Given the description of an element on the screen output the (x, y) to click on. 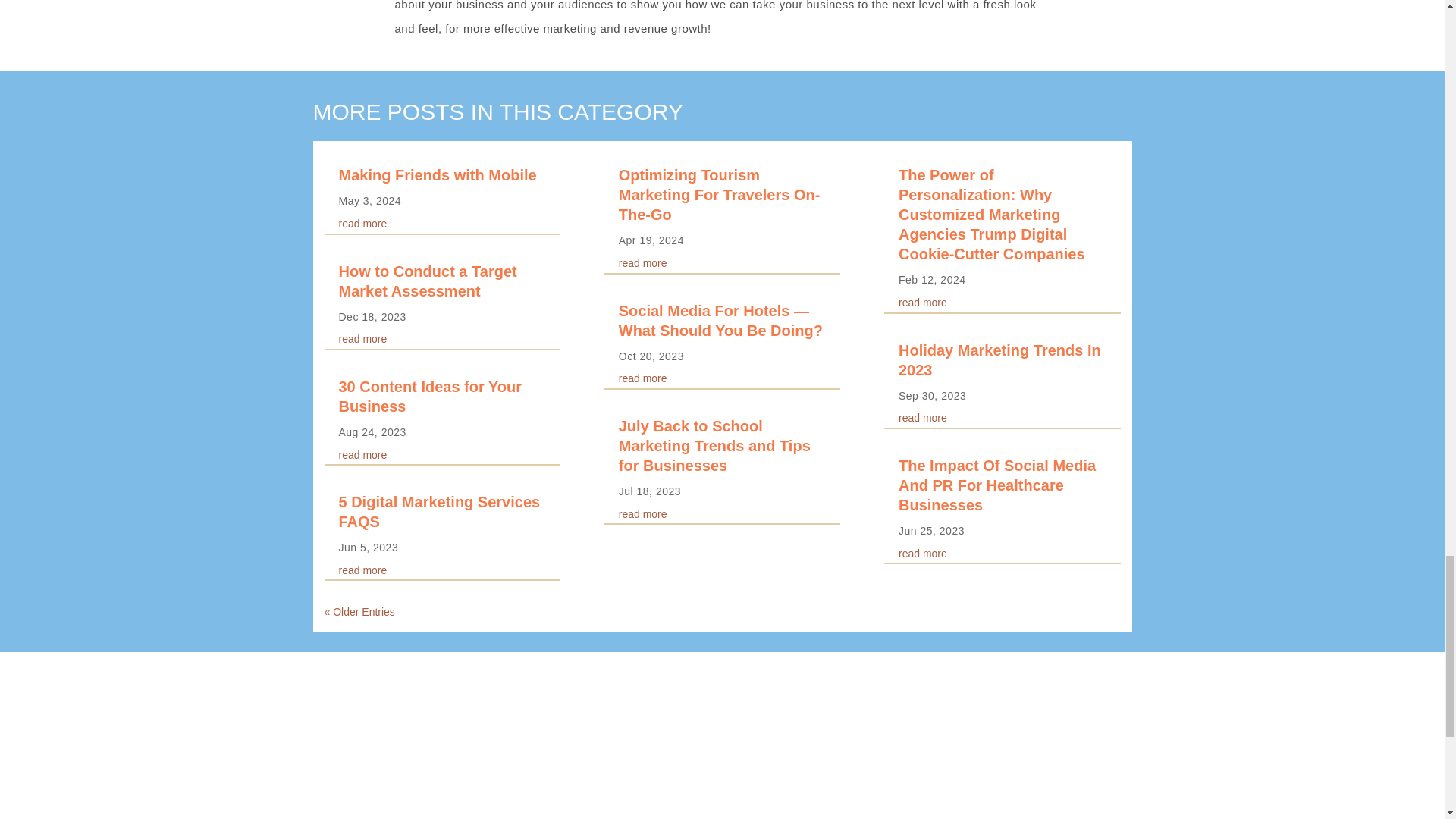
5 Digital Marketing Services FAQS (438, 511)
read more (362, 570)
read more (922, 302)
read more (362, 223)
read more (642, 513)
read more (642, 378)
How to Conduct a Target Market Assessment (426, 280)
read more (362, 338)
July Back to School Marketing Trends and Tips for Businesses (714, 445)
read more (362, 454)
read more (642, 263)
Optimizing Tourism Marketing For Travelers On-The-Go (719, 194)
30 Content Ideas for Your Business (429, 396)
Making Friends with Mobile (436, 175)
